Given the description of an element on the screen output the (x, y) to click on. 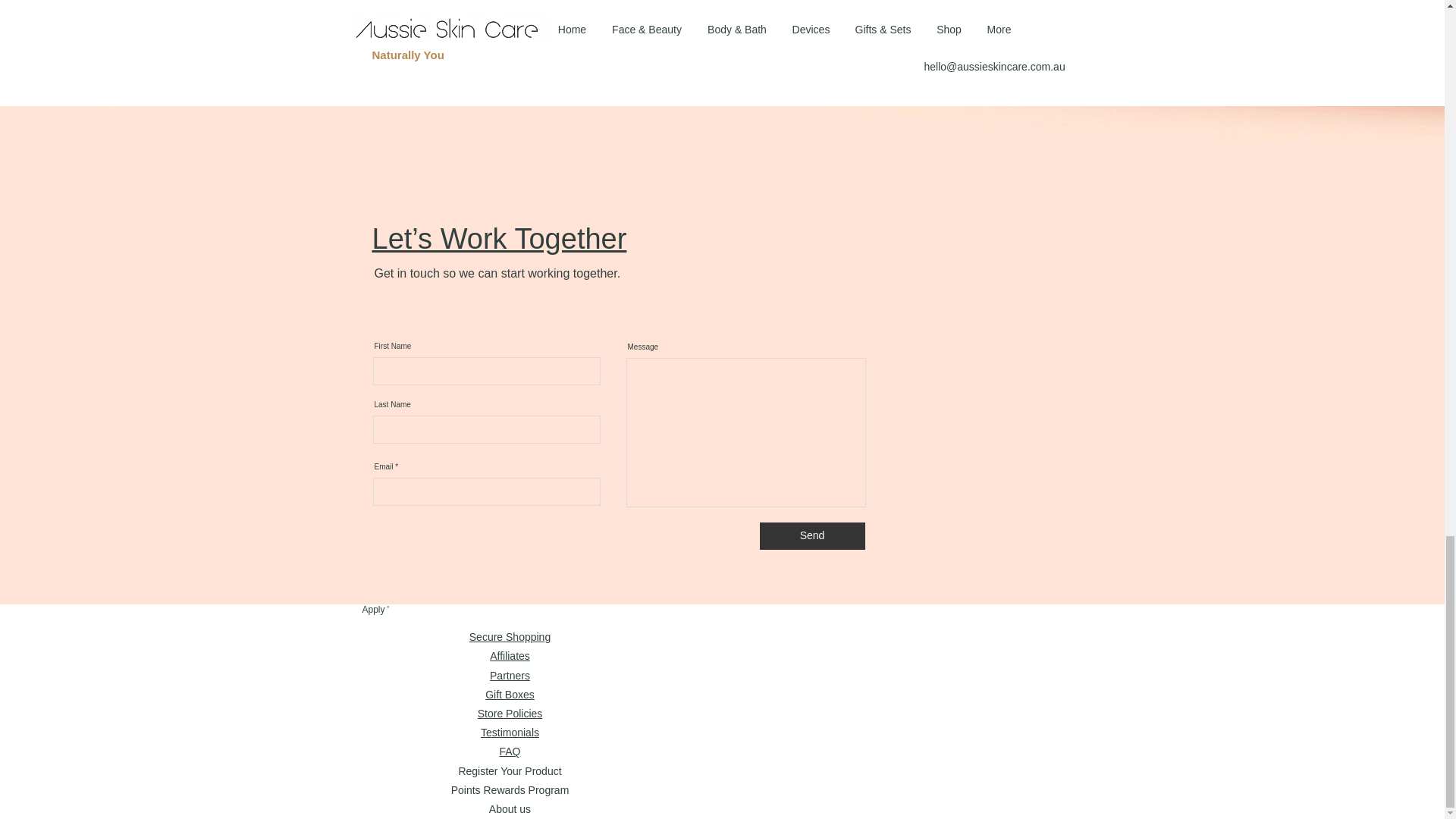
Secure Shopping (509, 636)
Affiliates (509, 655)
FAQ (509, 751)
Send (812, 535)
Gift Boxes (509, 694)
Testimonials (509, 732)
Partners (509, 675)
Store Policies (510, 713)
